Given the description of an element on the screen output the (x, y) to click on. 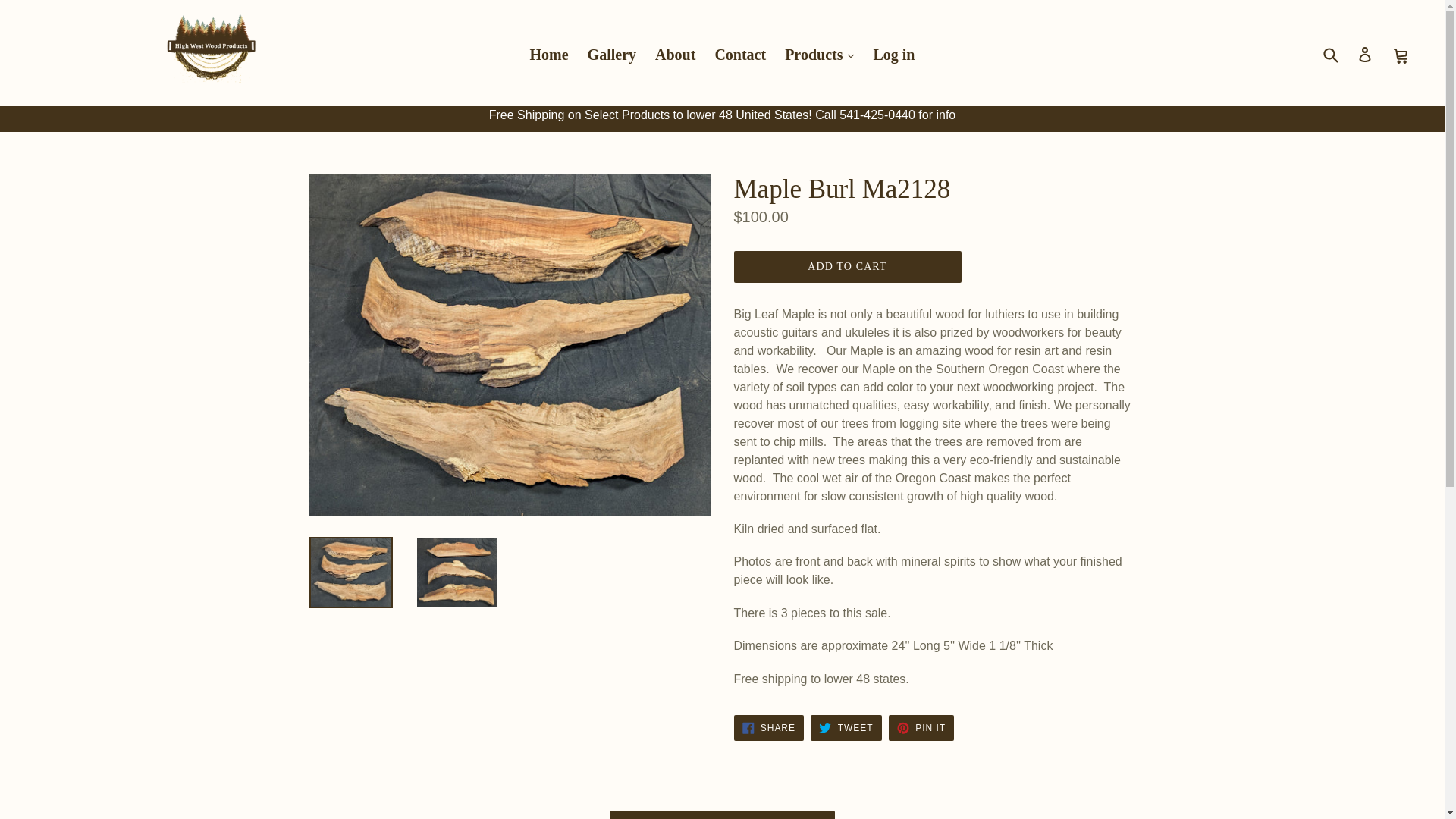
Tweet on Twitter (845, 727)
Contact (739, 53)
Gallery (611, 53)
About (675, 53)
Home (548, 53)
Share on Facebook (768, 727)
Pin on Pinterest (920, 727)
